Given the description of an element on the screen output the (x, y) to click on. 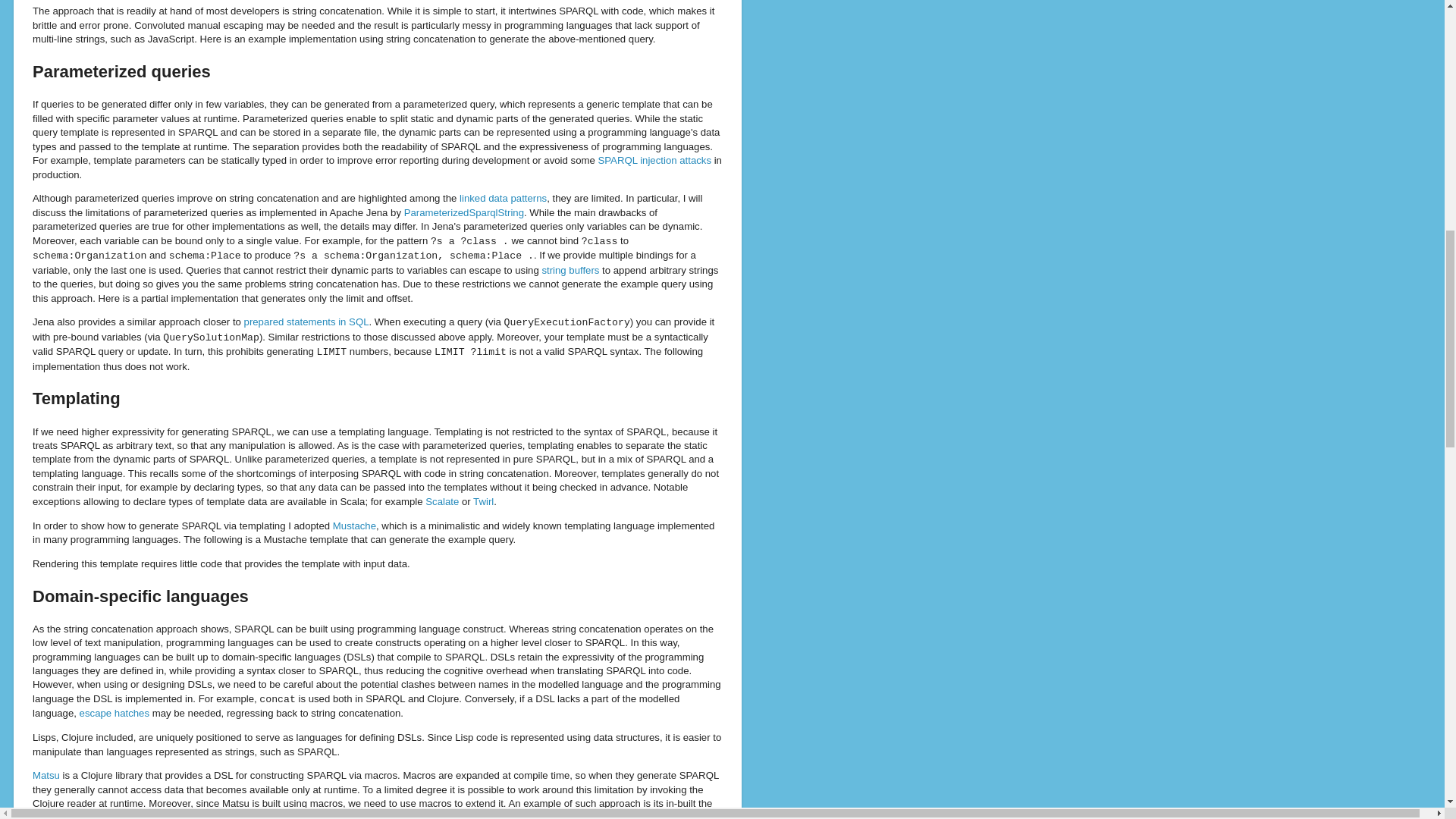
Mustache (354, 525)
SPARQL injection attacks (653, 160)
Scalate (441, 501)
string buffers (569, 270)
ParameterizedSparqlString (464, 212)
Matsu (45, 775)
linked data patterns (503, 197)
prepared statements in SQL (306, 321)
Twirl (483, 501)
defquery macro (72, 815)
escape hatches (114, 713)
